Given the description of an element on the screen output the (x, y) to click on. 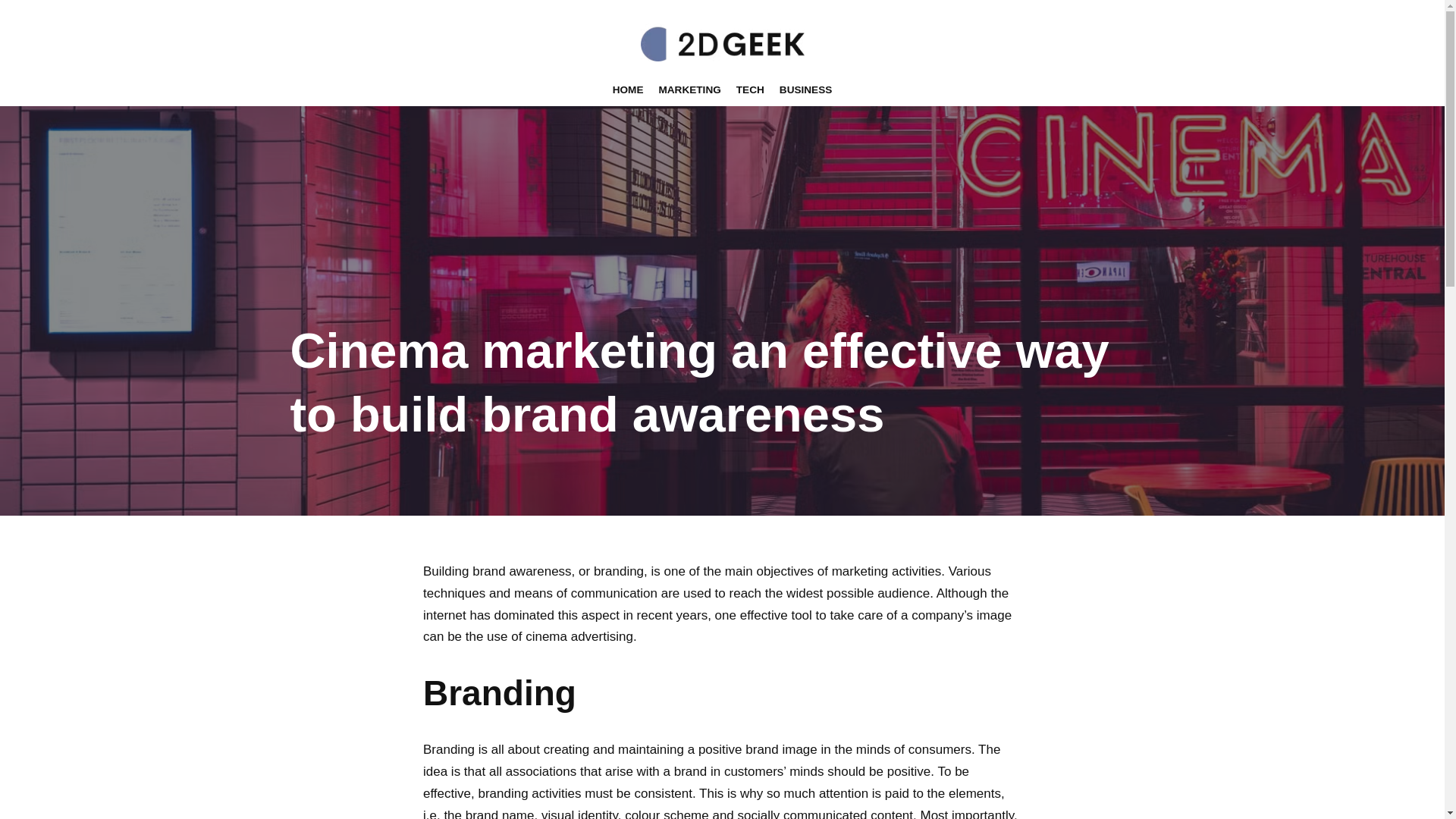
2dgeek.com Element type: hover (721, 37)
TECH Element type: text (750, 90)
Skip to content Element type: text (11, 31)
MARKETING Element type: text (689, 90)
BUSINESS Element type: text (805, 90)
HOME Element type: text (627, 90)
